Given the description of an element on the screen output the (x, y) to click on. 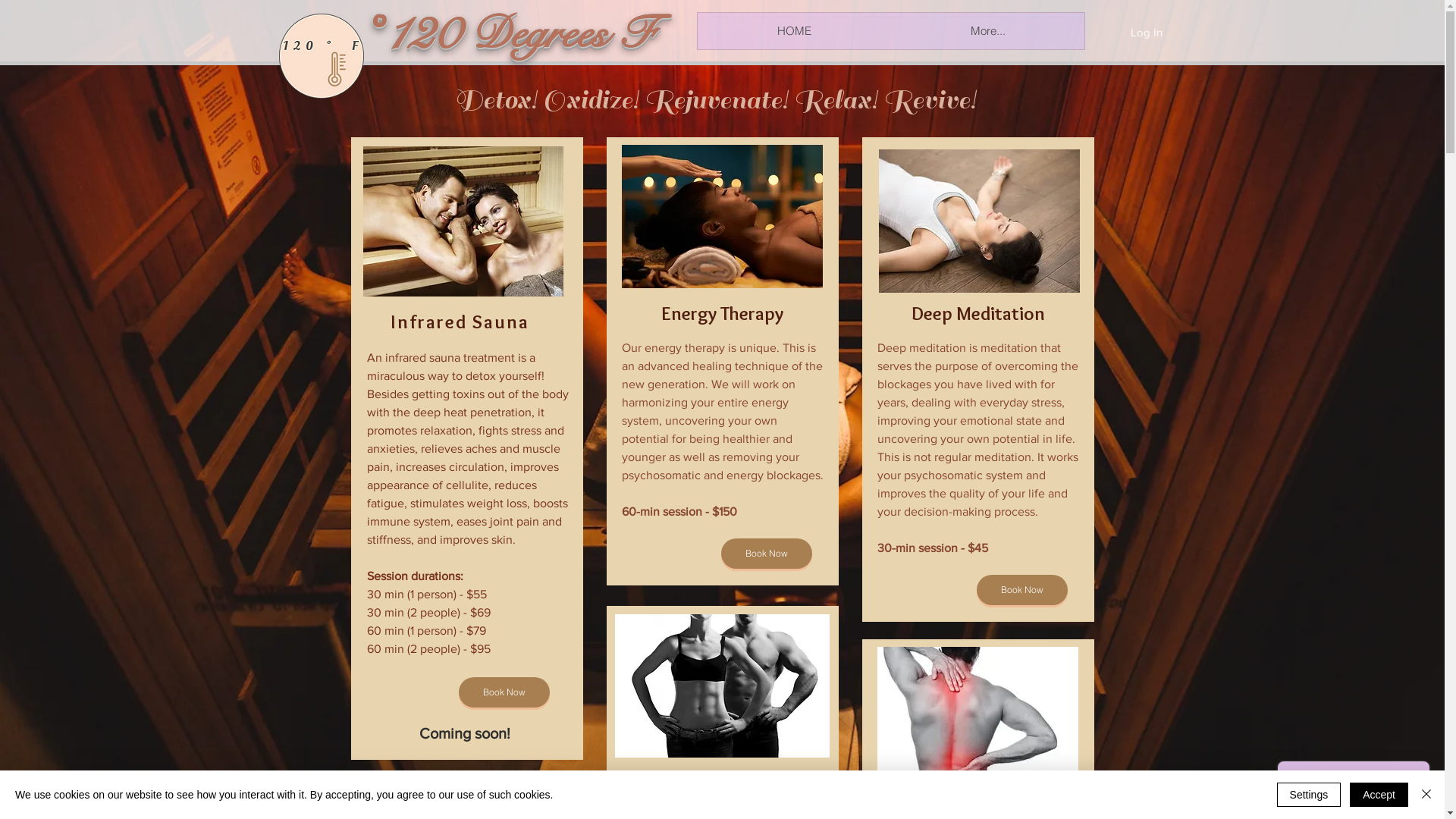
Book Now Element type: text (1021, 589)
Book Now Element type: text (765, 553)
HOME Element type: text (794, 30)
Settings Element type: text (1309, 794)
Book Now Element type: text (503, 692)
Log In Element type: text (1145, 31)
Accept Element type: text (1378, 794)
